Given the description of an element on the screen output the (x, y) to click on. 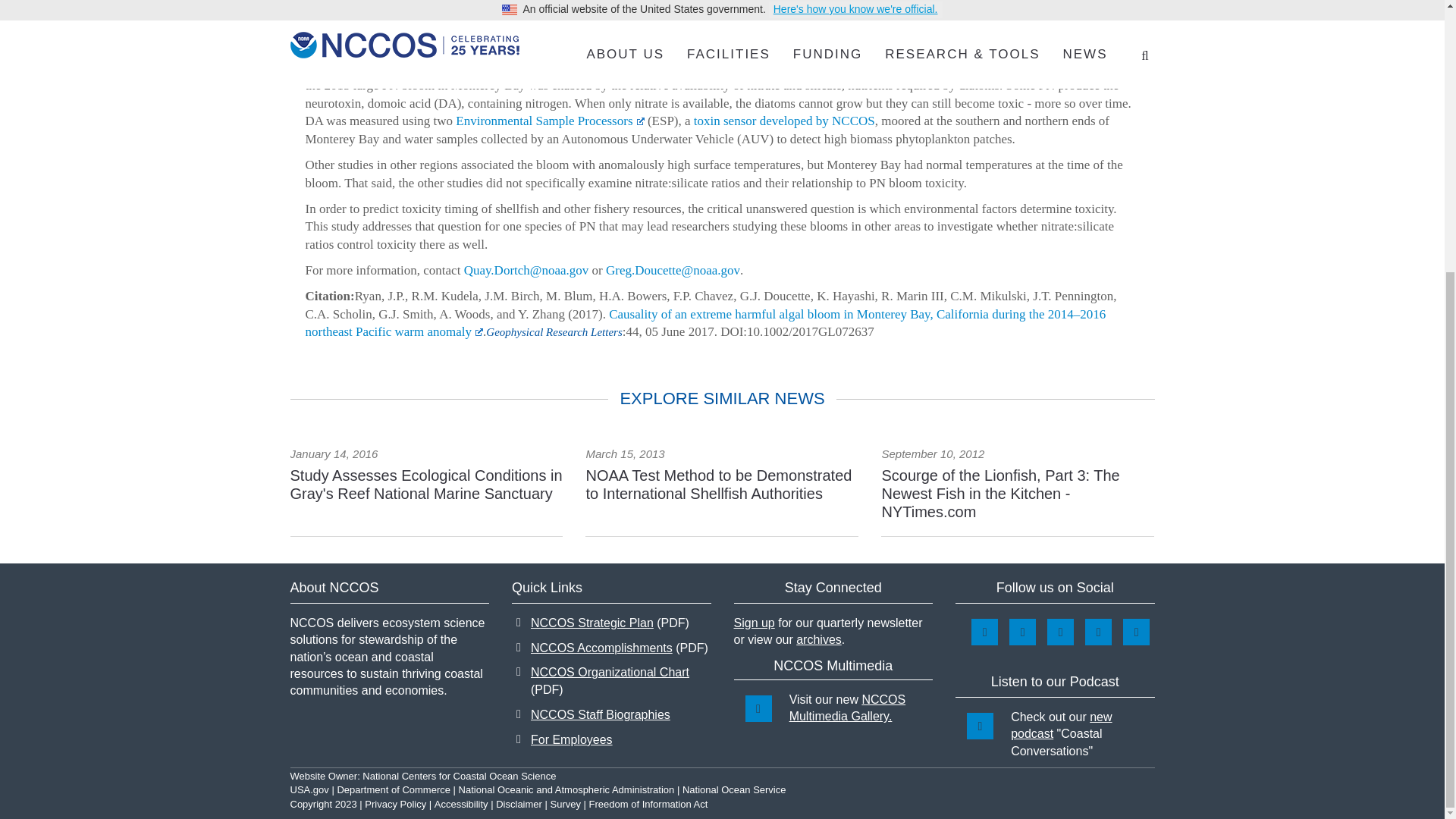
NCCOS Strategic Plan (609, 622)
Event Response (601, 2)
Follow us on Insta! (984, 632)
Follow us on Linked in! (1098, 632)
Coastal Conversations Podcast (979, 725)
ECOHAB (906, 48)
Like us on Facebook! (1022, 632)
Geophysical Research Letters (884, 66)
NCCOS Staff Biographies (600, 714)
Multimedia Gallery (757, 708)
